Given the description of an element on the screen output the (x, y) to click on. 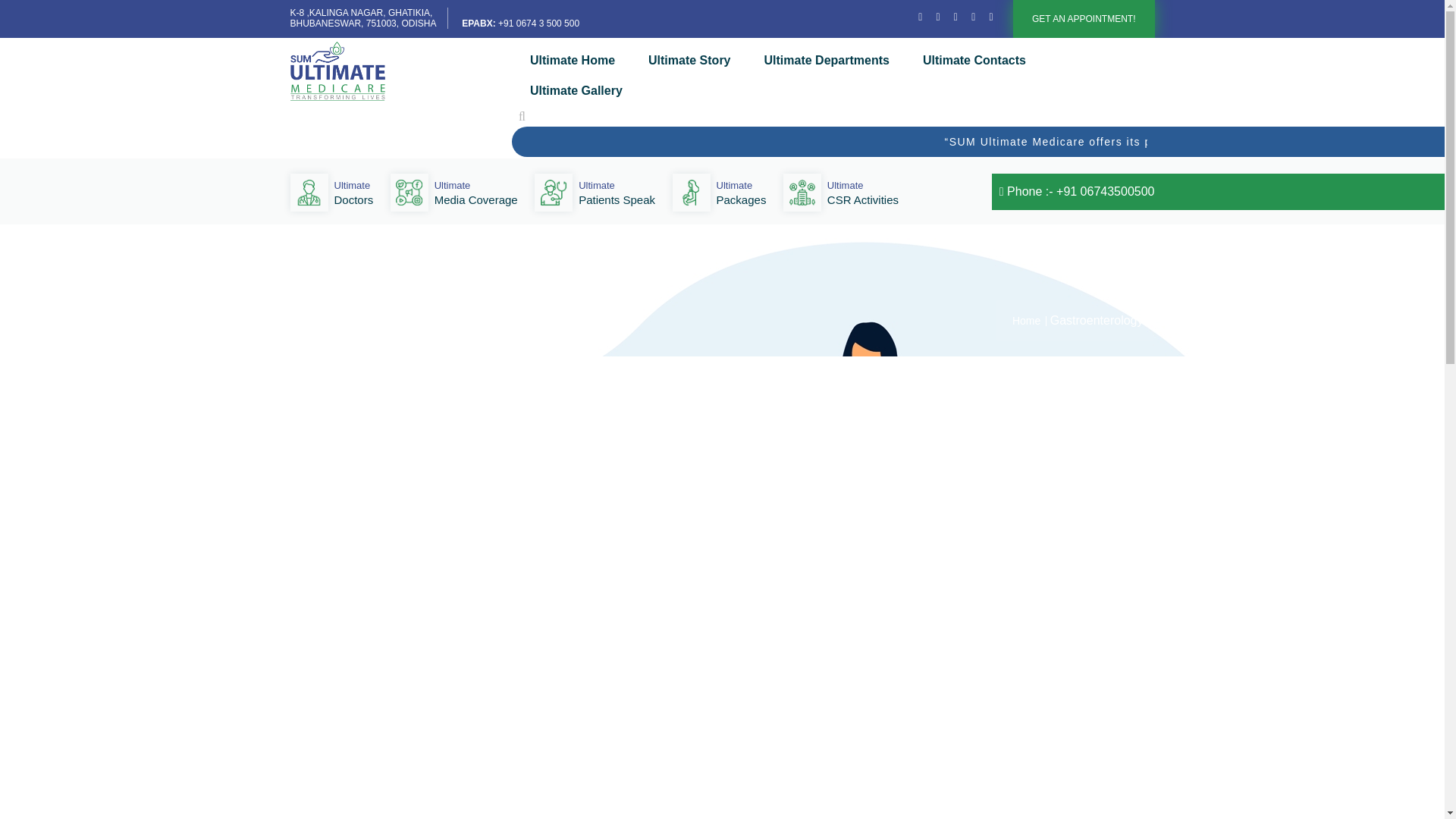
GET AN APPOINTMENT! (1083, 18)
Home (475, 190)
Ultimate Departments (1026, 320)
CLICK HERE FOR DIRECTION (824, 60)
Ultimate Contacts (352, 190)
Ultimate Gallery (616, 190)
Ultimate Story (362, 17)
Ultimate Home (972, 60)
